Given the description of an element on the screen output the (x, y) to click on. 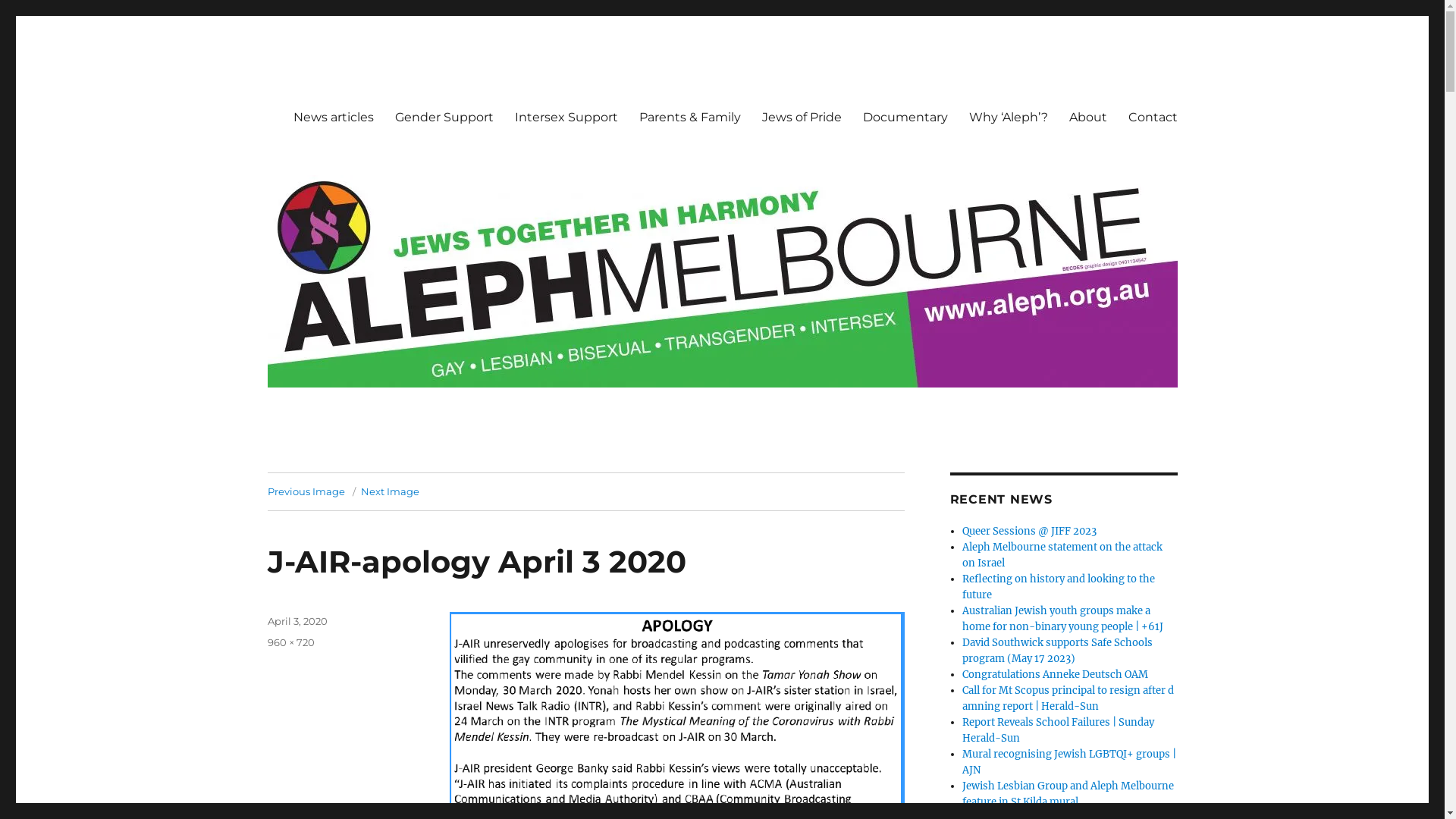
Mural recognising Jewish LGBTQI+ groups | AJN Element type: text (1069, 761)
Report Reveals School Failures | Sunday Herald-Sun Element type: text (1058, 729)
Congratulations Anneke Deutsch OAM Element type: text (1055, 674)
April 3, 2020 Element type: text (296, 621)
Next Image Element type: text (389, 491)
Parents & Family Element type: text (688, 116)
Gender Support Element type: text (443, 116)
News articles Element type: text (332, 116)
Aleph Melbourne Element type: text (361, 92)
Aleph Melbourne statement on the attack on Israel Element type: text (1062, 554)
Intersex Support Element type: text (565, 116)
Contact Element type: text (1152, 116)
Documentary Element type: text (905, 116)
David Southwick supports Safe Schools program (May 17 2023) Element type: text (1057, 650)
Previous Image Element type: text (305, 491)
Queer Sessions @ JIFF 2023 Element type: text (1029, 530)
Reflecting on history and looking to the future Element type: text (1058, 586)
About Element type: text (1087, 116)
Jews of Pride Element type: text (800, 116)
